Given the description of an element on the screen output the (x, y) to click on. 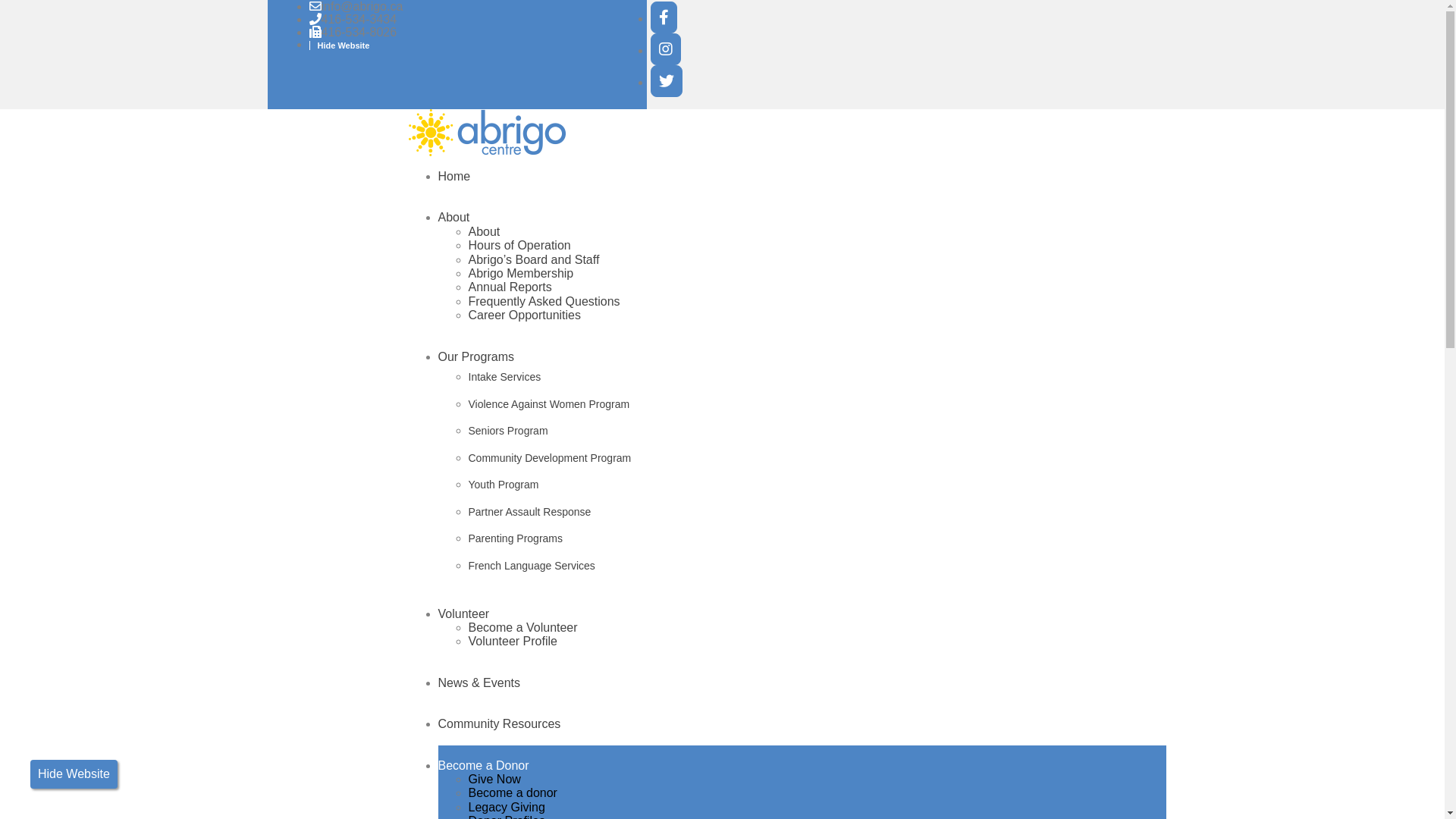
Career Opportunities Element type: text (524, 314)
Frequently Asked Questions Element type: text (544, 300)
Become a Donor Element type: text (483, 765)
Annual Reports Element type: text (510, 286)
Violence Against Women Program Element type: text (817, 404)
Community Resources Element type: text (499, 723)
Become a donor Element type: text (512, 792)
About Element type: text (484, 231)
Give Now Element type: text (494, 778)
Community Development Program Element type: text (817, 458)
Partner Assault Response Element type: text (817, 512)
Intake Services Element type: text (817, 377)
Abrigo Membership Element type: text (521, 272)
About Element type: text (454, 216)
News & Events Element type: text (479, 682)
Hours of Operation Element type: text (519, 244)
Home Element type: text (454, 175)
French Language Services Element type: text (817, 566)
Volunteer Profile Element type: text (512, 640)
Legacy Giving Element type: text (506, 806)
Volunteer Element type: text (463, 613)
Seniors Program Element type: text (817, 431)
Our Programs Element type: text (476, 356)
Parenting Programs Element type: text (817, 538)
Become a Volunteer Element type: text (522, 627)
Hide Website Element type: text (339, 45)
Hide Website Element type: text (73, 773)
Youth Program Element type: text (817, 484)
